Given the description of an element on the screen output the (x, y) to click on. 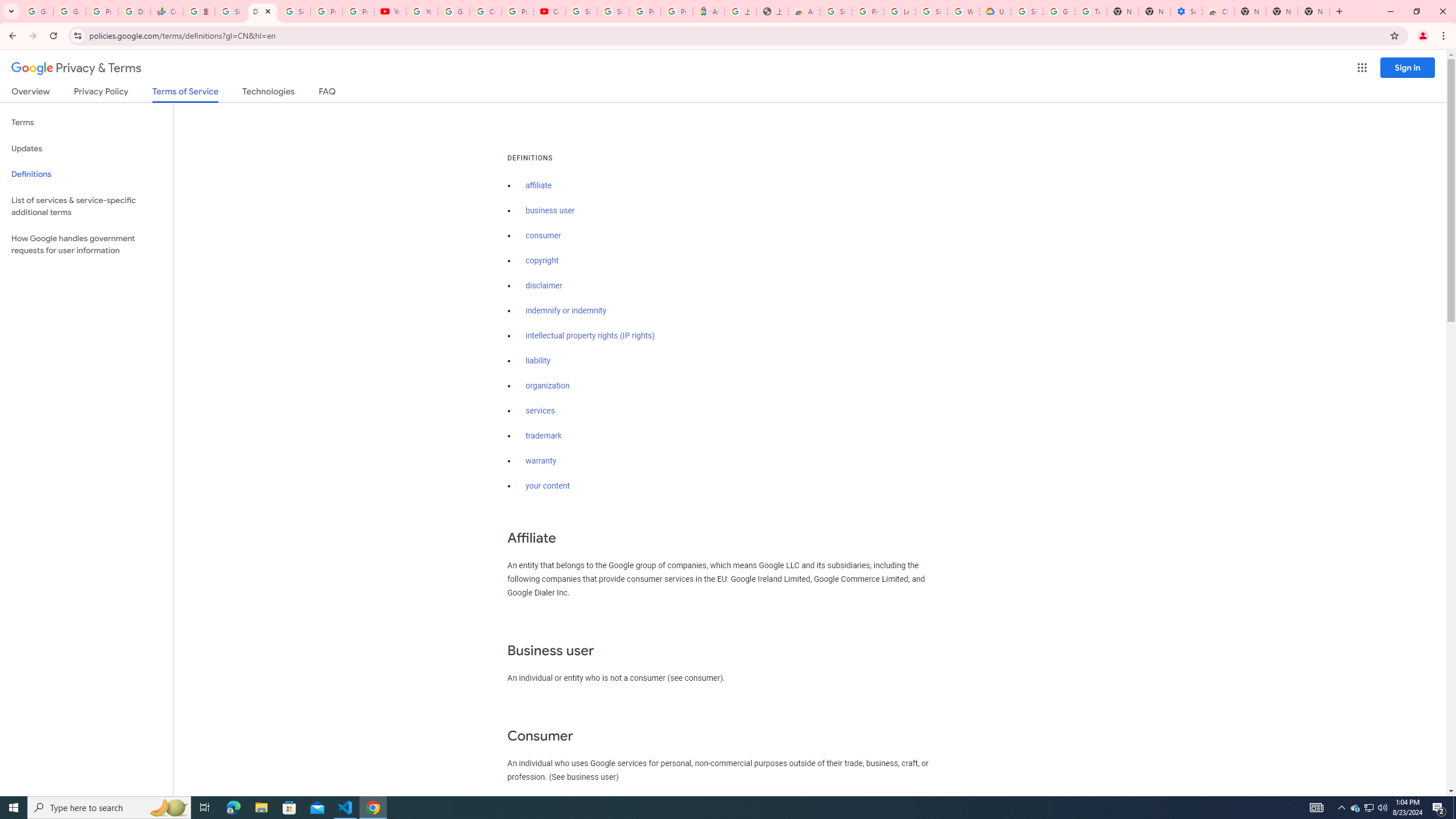
Settings - Accessibility (1185, 11)
Chrome Web Store - Accessibility extensions (1217, 11)
copyright (542, 260)
Who are Google's partners? - Privacy and conditions - Google (963, 11)
affiliate (538, 185)
